Given the description of an element on the screen output the (x, y) to click on. 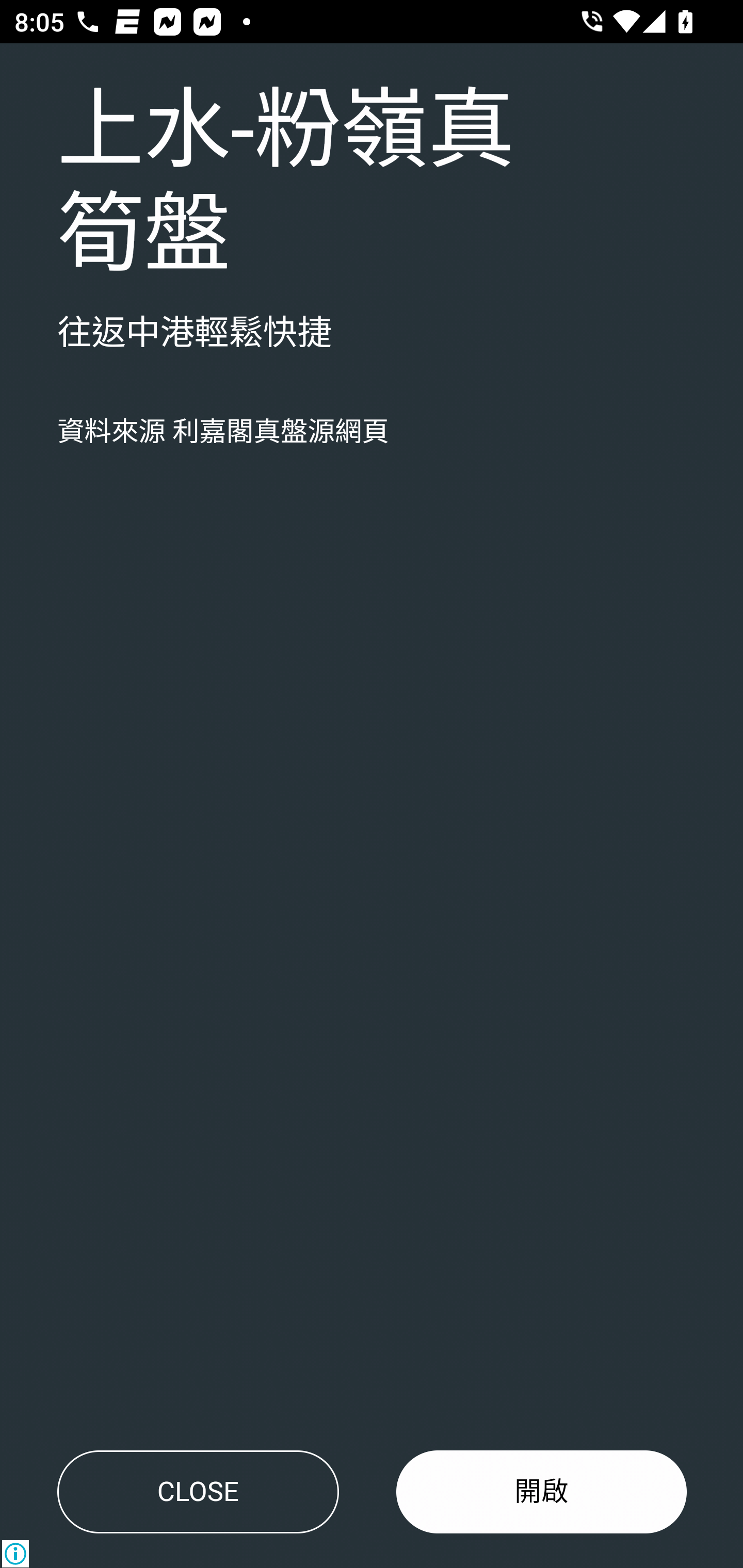
上水-粉嶺真 筍盤 上水-粉嶺真 筍盤 (285, 182)
往返中港輕鬆快捷 (194, 333)
資料來源 利嘉閣真盤源網頁 (222, 432)
CLOSE (197, 1491)
開啟 (541, 1491)
